Given the description of an element on the screen output the (x, y) to click on. 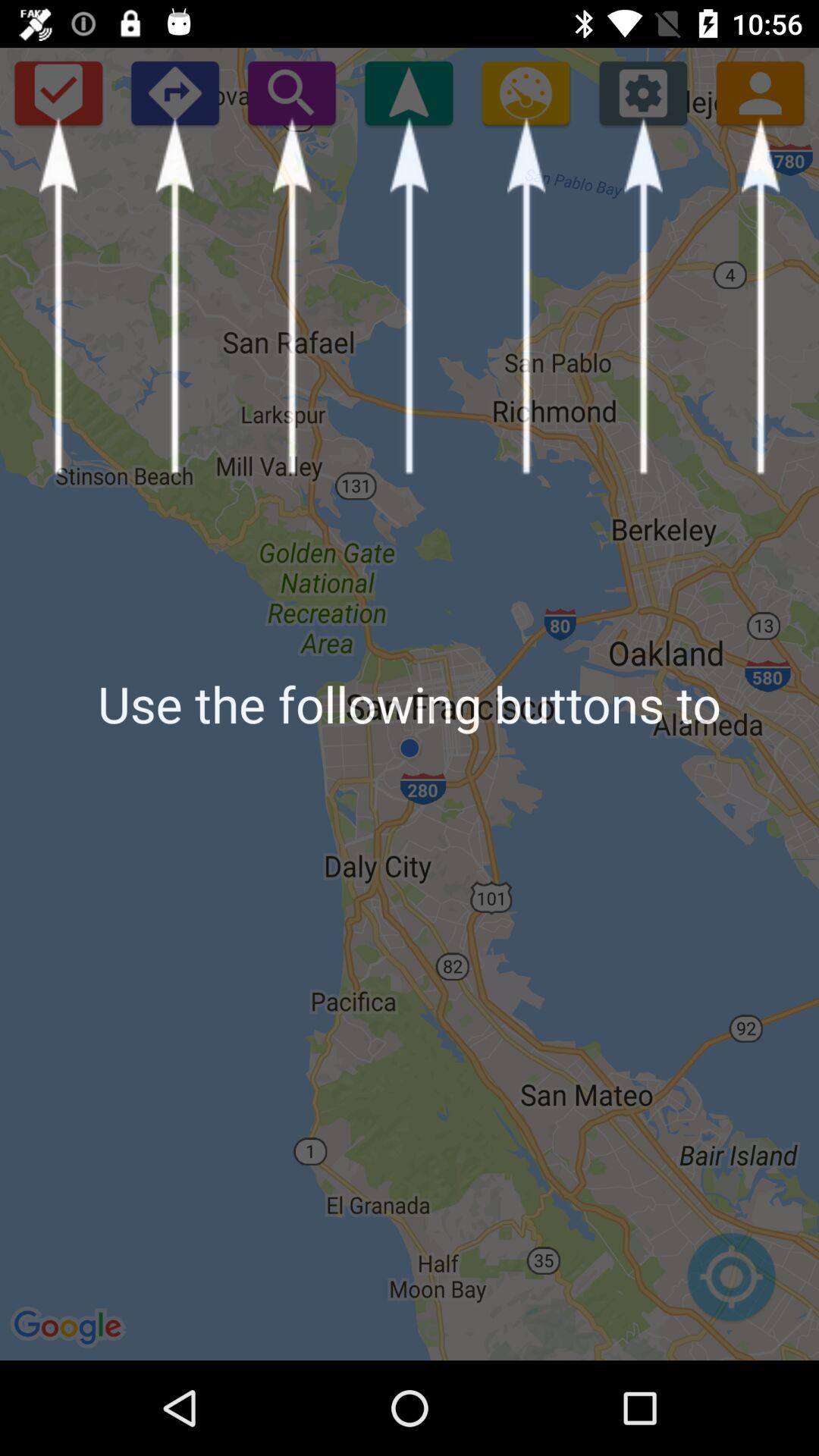
open icon above use the following app (525, 92)
